Given the description of an element on the screen output the (x, y) to click on. 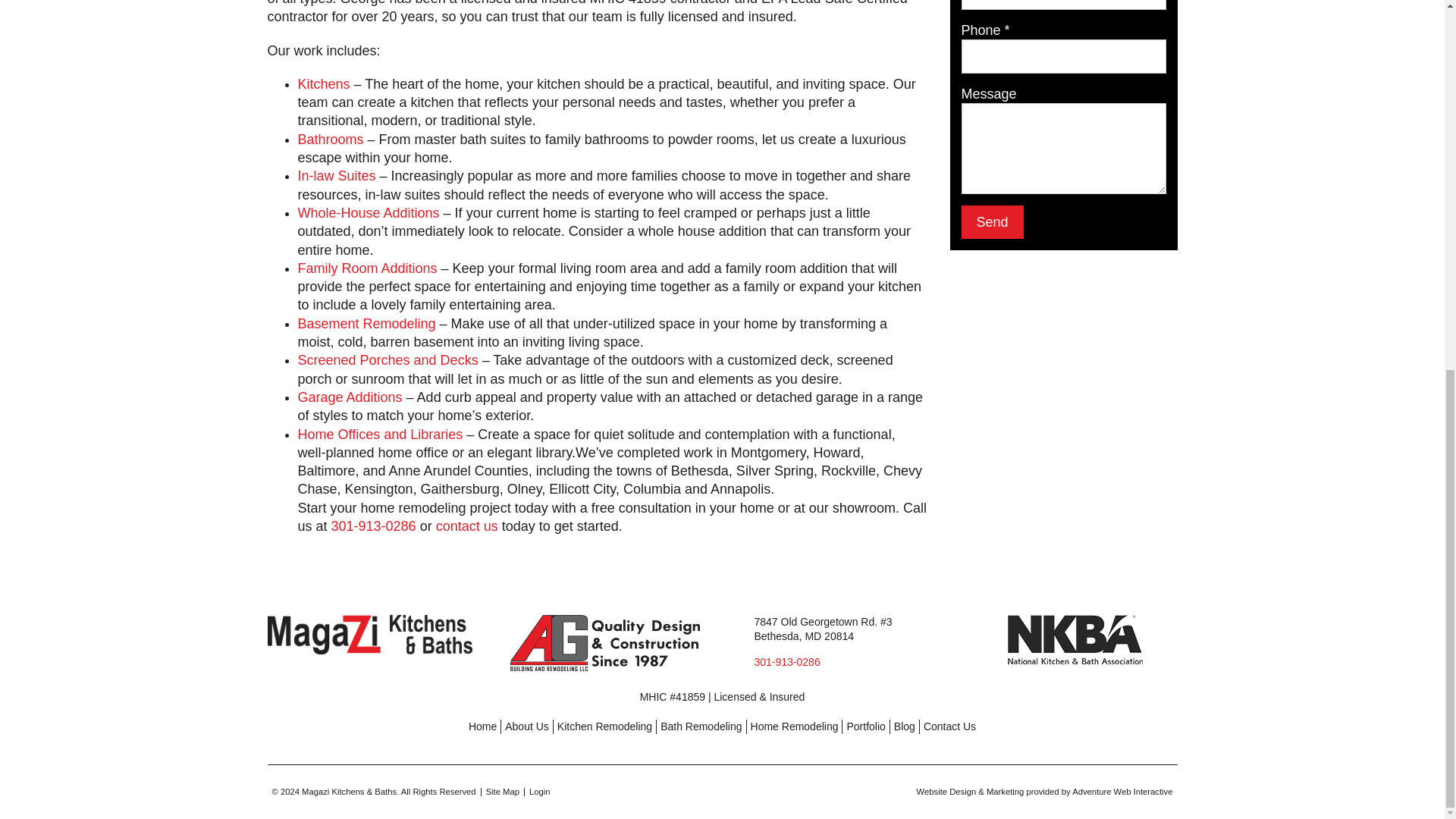
Bathrooms (329, 139)
Whole-House Additions (368, 212)
In-law Suites (336, 175)
Send (991, 222)
NKBA (1074, 639)
AG Building and Remodeling (603, 642)
Kitchens (323, 83)
